Given the description of an element on the screen output the (x, y) to click on. 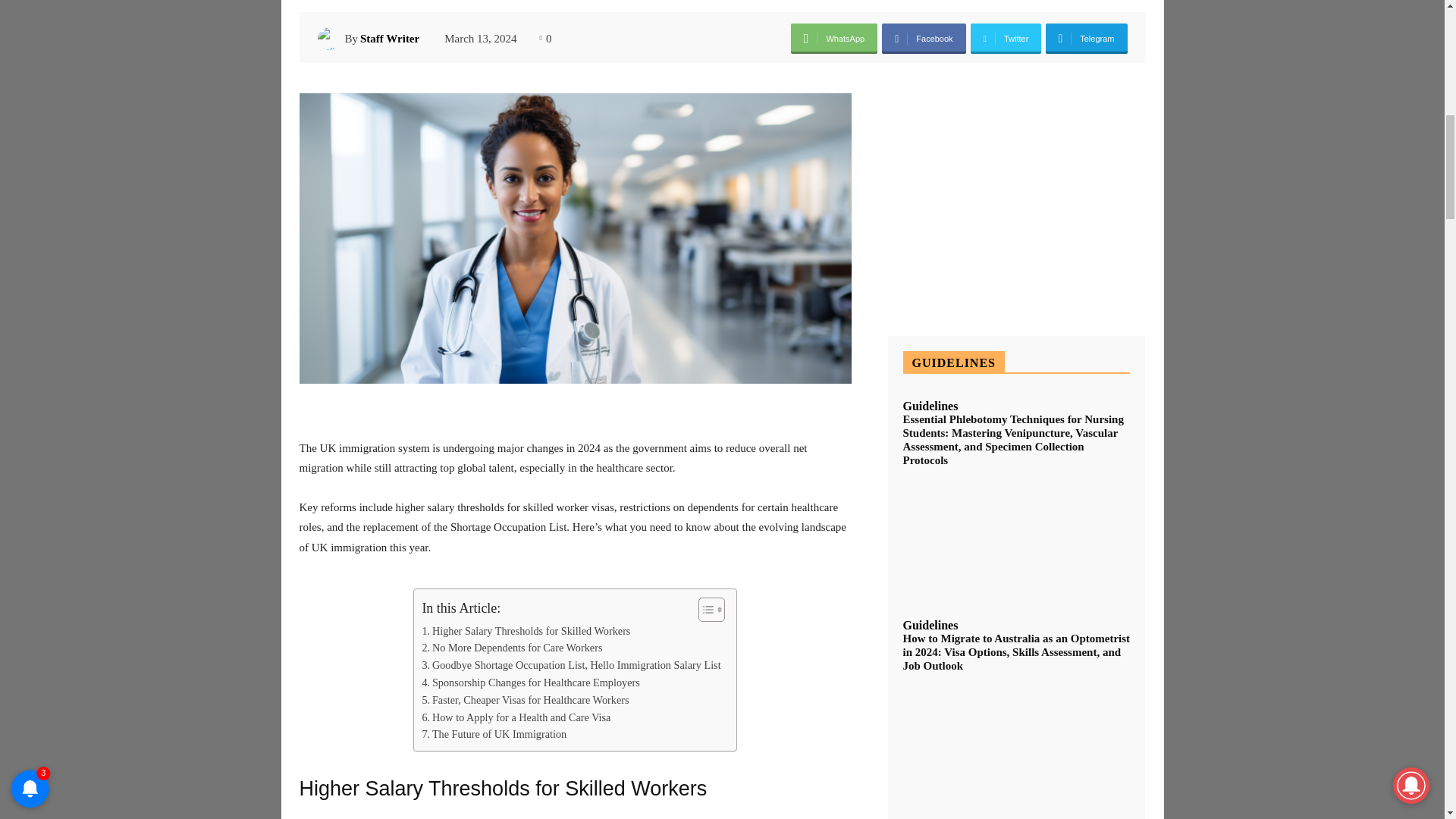
Staff Writer (330, 38)
Twitter (1006, 38)
No More Dependents for Care Workers (512, 647)
Staff Writer (389, 38)
Higher Salary Thresholds for Skilled Workers (526, 630)
Telegram (1085, 38)
Telegram (1085, 38)
Twitter (1006, 38)
WhatsApp (833, 38)
Facebook (923, 38)
WhatsApp (833, 38)
Facebook (923, 38)
Higher Salary Thresholds for Skilled Workers (526, 630)
